Given the description of an element on the screen output the (x, y) to click on. 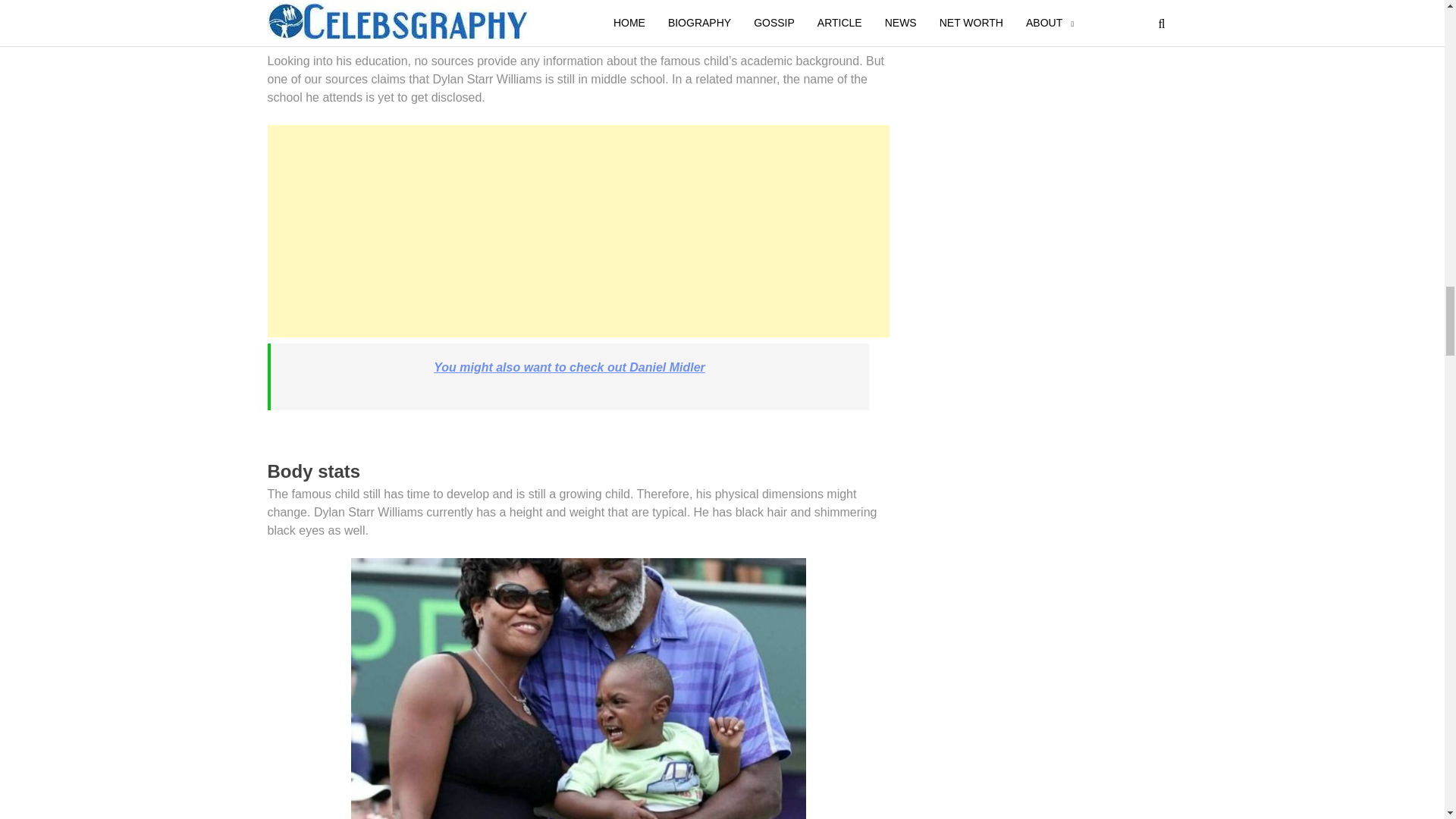
You might also want to check out Daniel Midler (568, 367)
